Given the description of an element on the screen output the (x, y) to click on. 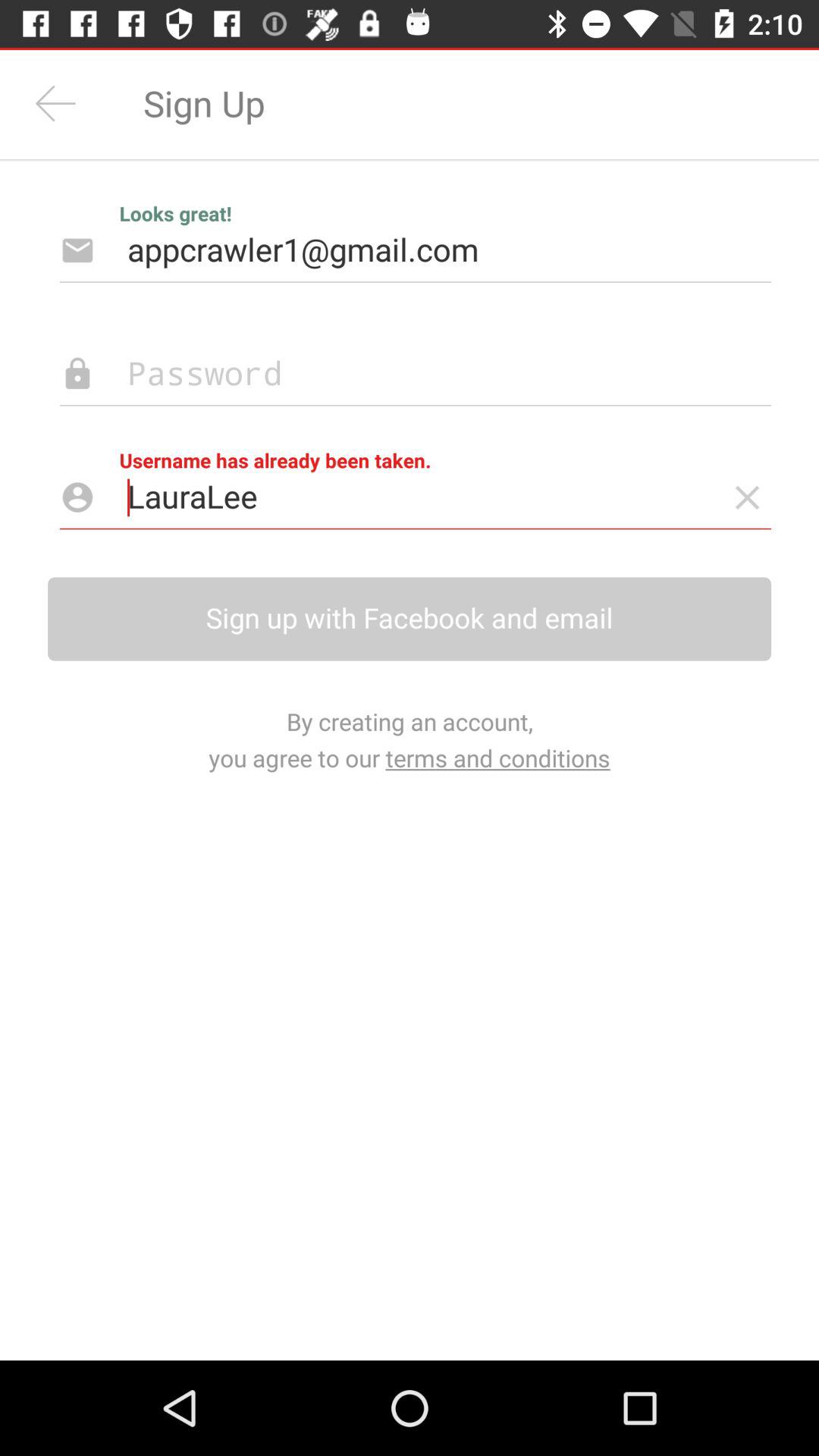
password (391, 374)
